Given the description of an element on the screen output the (x, y) to click on. 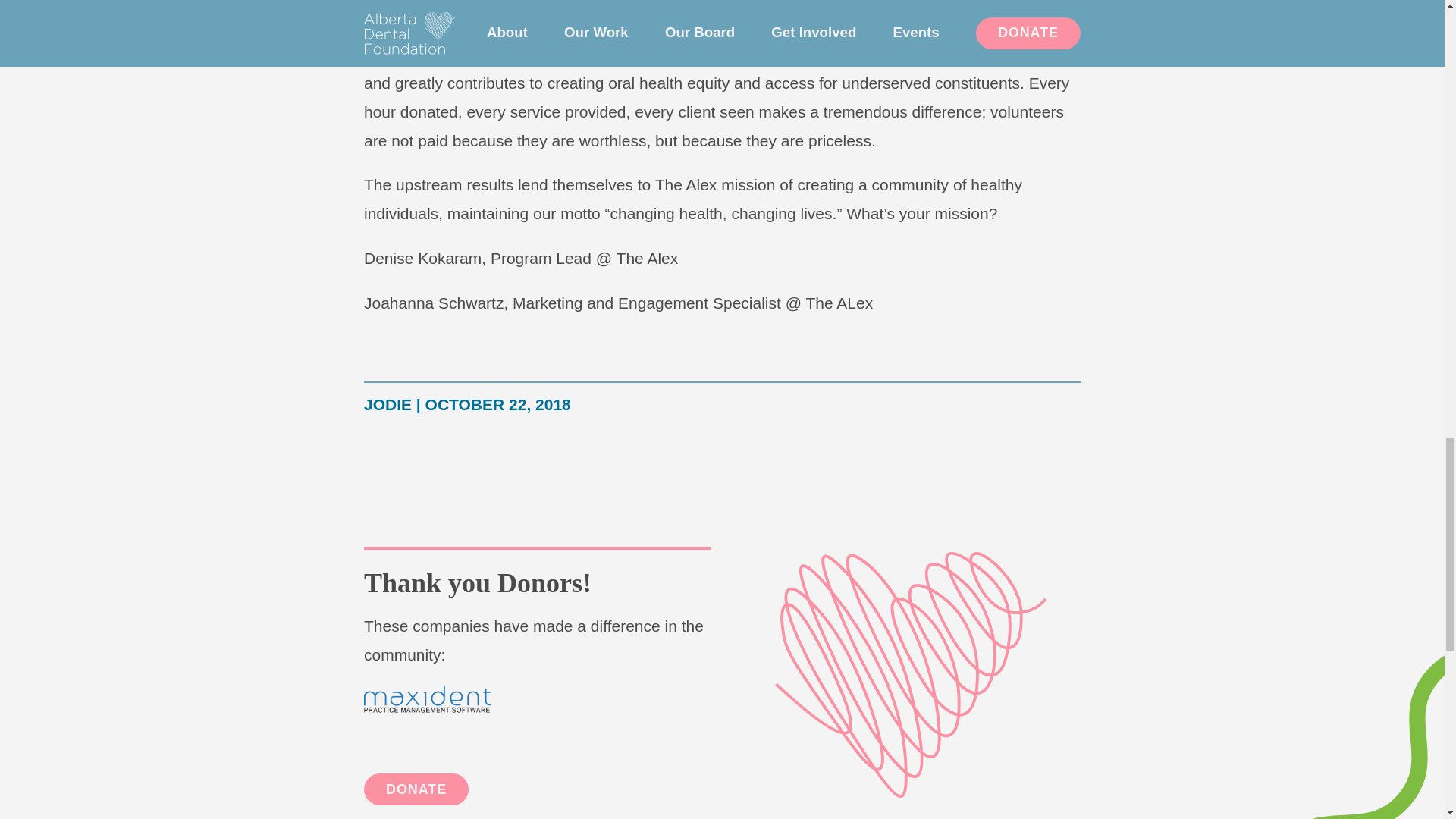
DONATE (416, 789)
JODIE (388, 404)
Posts by jodie (388, 404)
